Given the description of an element on the screen output the (x, y) to click on. 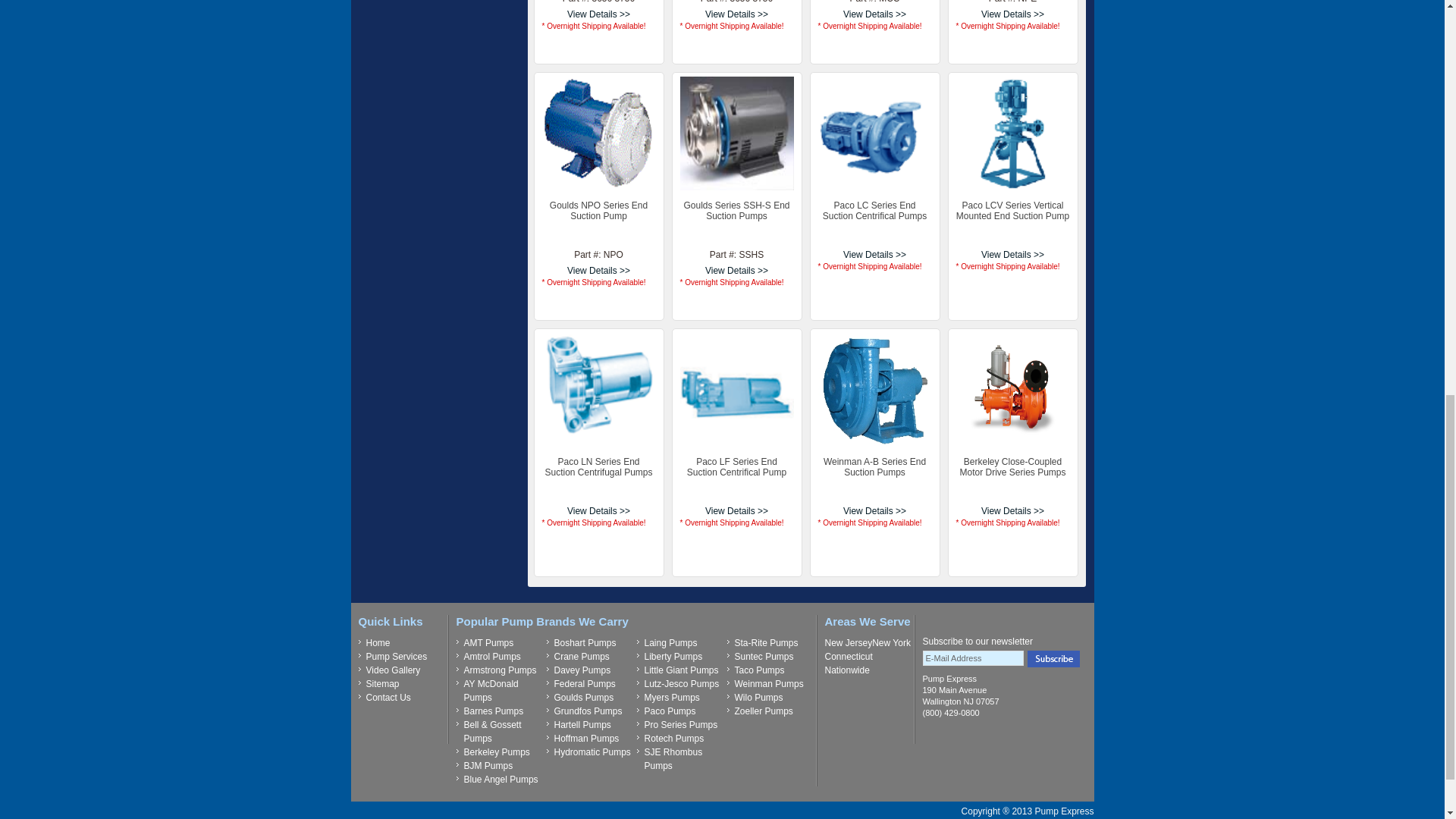
Subscribe (1052, 658)
E-Mail Address (972, 657)
